Given the description of an element on the screen output the (x, y) to click on. 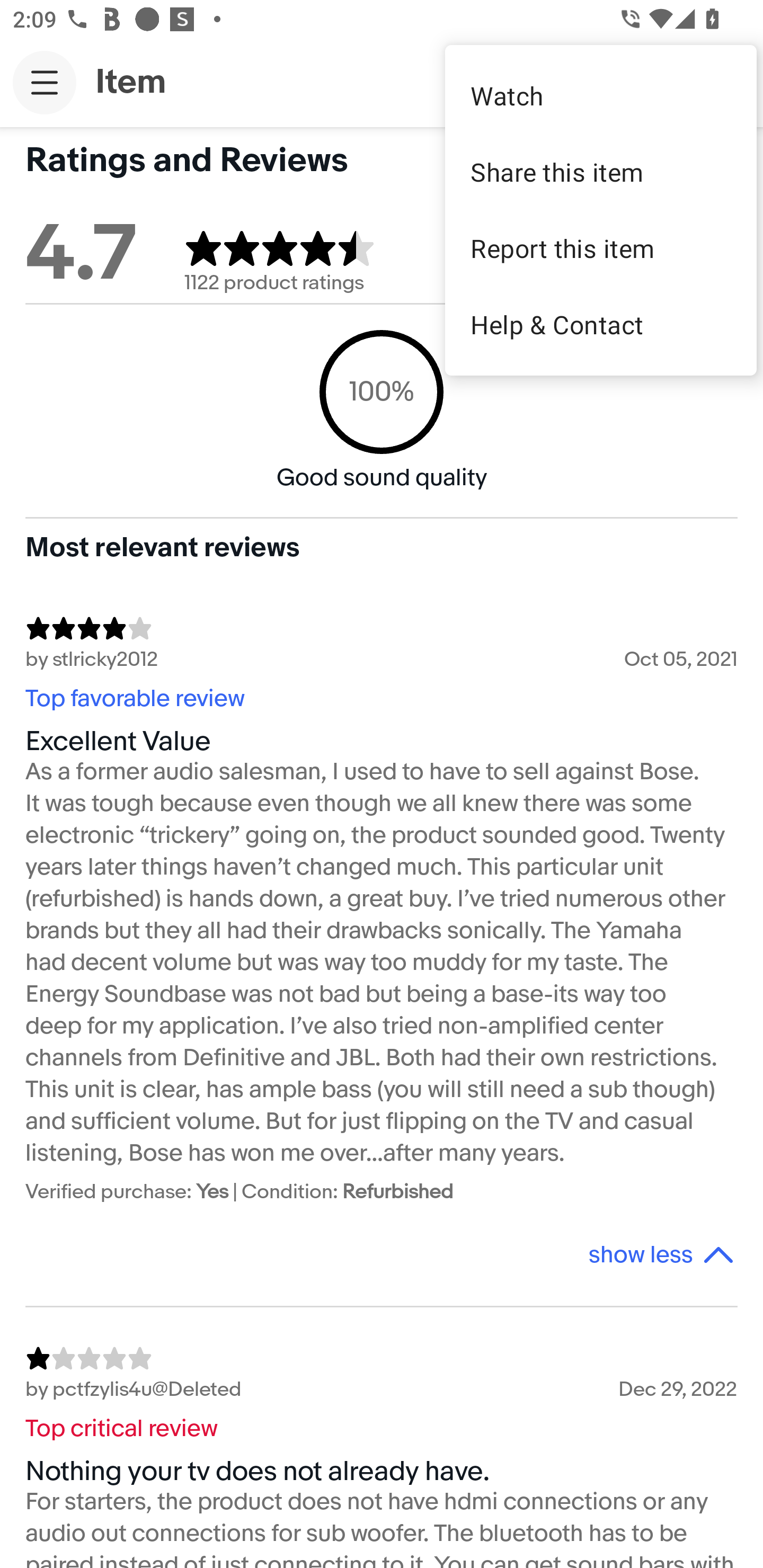
Watch (600, 95)
Share this item (600, 171)
Report this item (600, 248)
Help & Contact (600, 324)
